Given the description of an element on the screen output the (x, y) to click on. 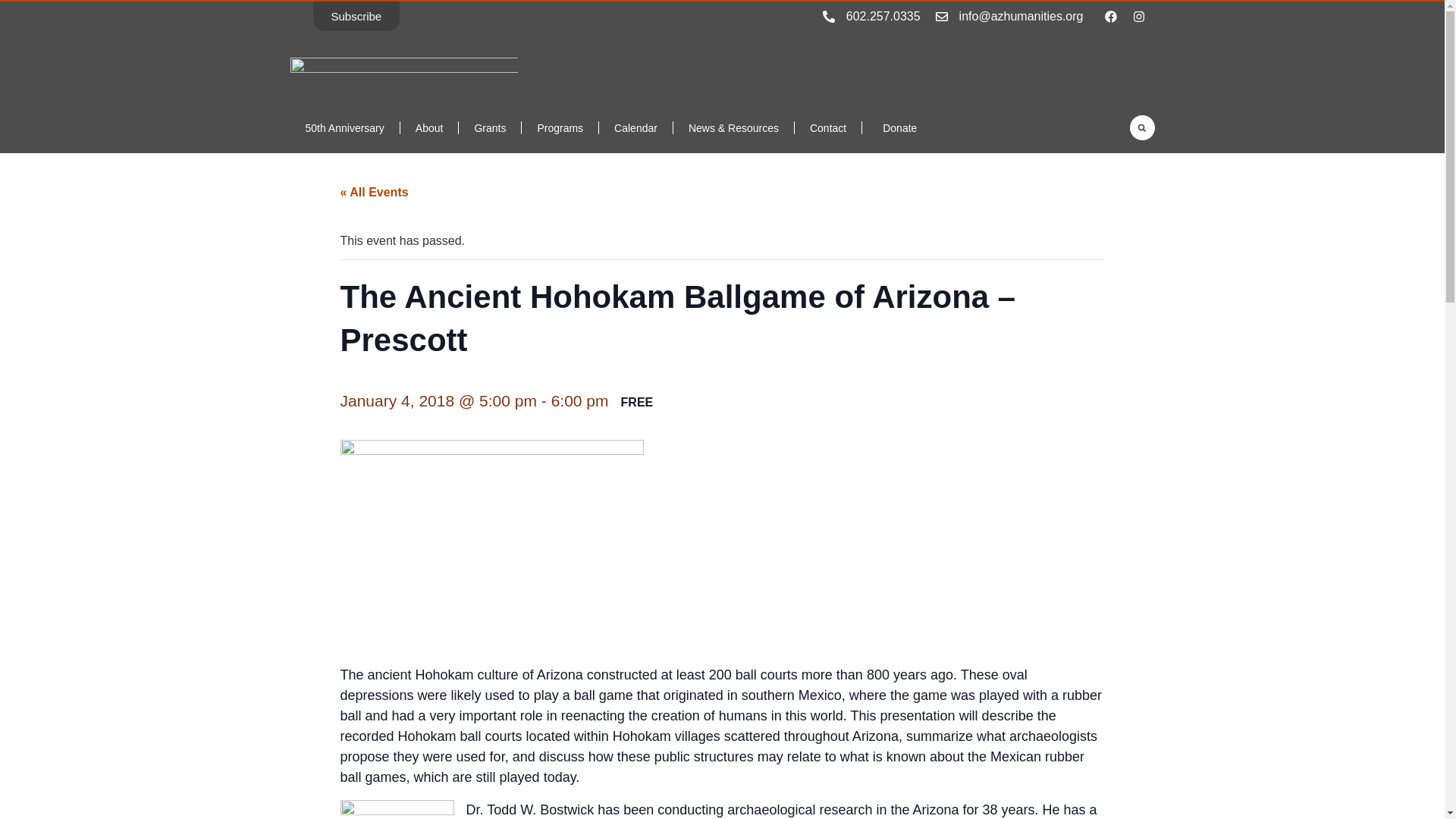
About (429, 127)
Subscribe (355, 16)
Programs (559, 127)
50th Anniversary (343, 127)
Donate (896, 127)
602.257.0335 (882, 15)
Calendar (635, 127)
Contact (827, 127)
Grants (489, 127)
